Given the description of an element on the screen output the (x, y) to click on. 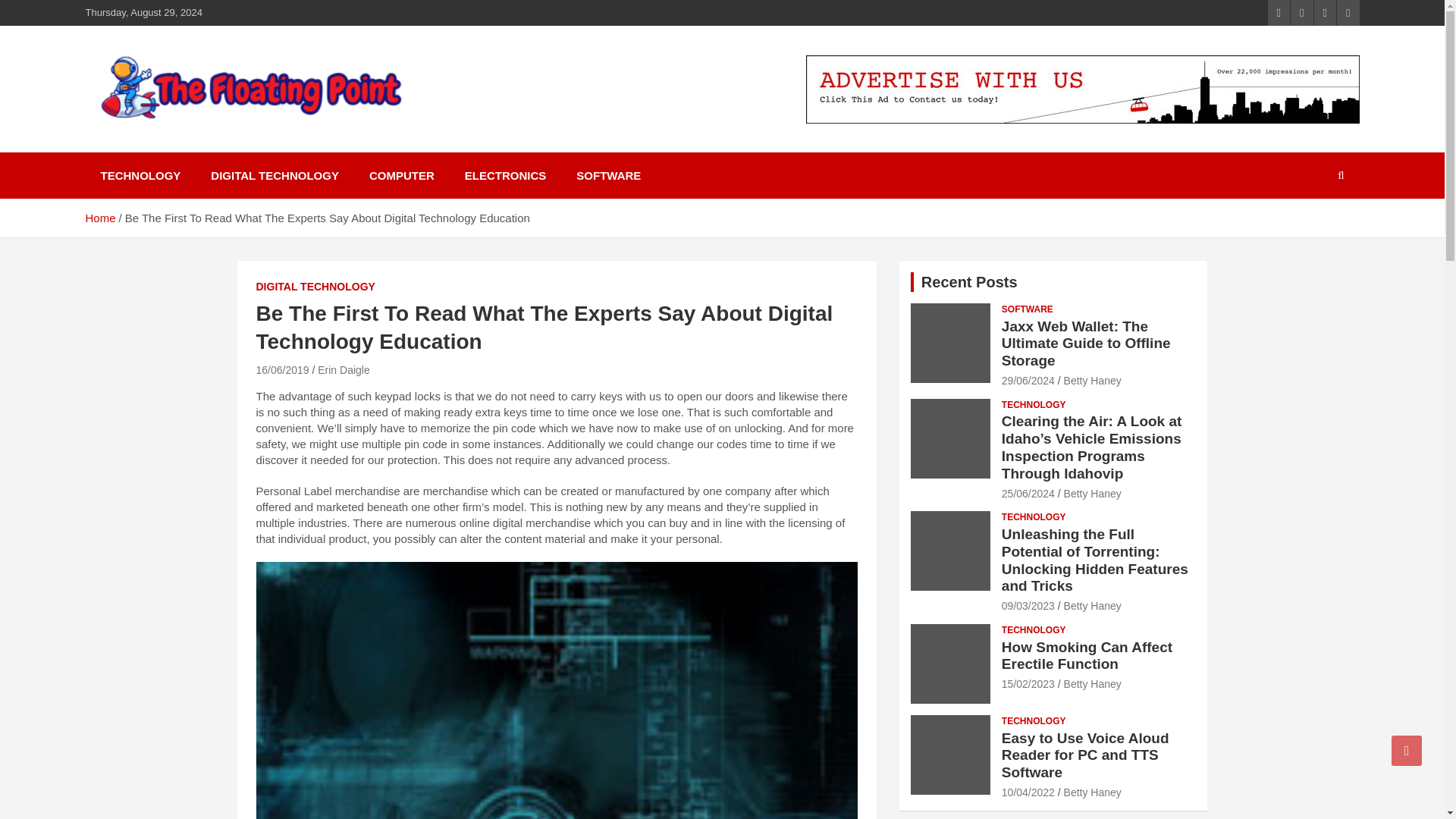
Betty Haney (1092, 493)
Home (99, 217)
SOFTWARE (608, 175)
SOFTWARE (1026, 309)
Betty Haney (1092, 605)
Erin Daigle (343, 369)
Jaxx Web Wallet: The Ultimate Guide to Offline Storage (1085, 343)
DIGITAL TECHNOLOGY (315, 287)
TECHNOLOGY (1033, 404)
